Given the description of an element on the screen output the (x, y) to click on. 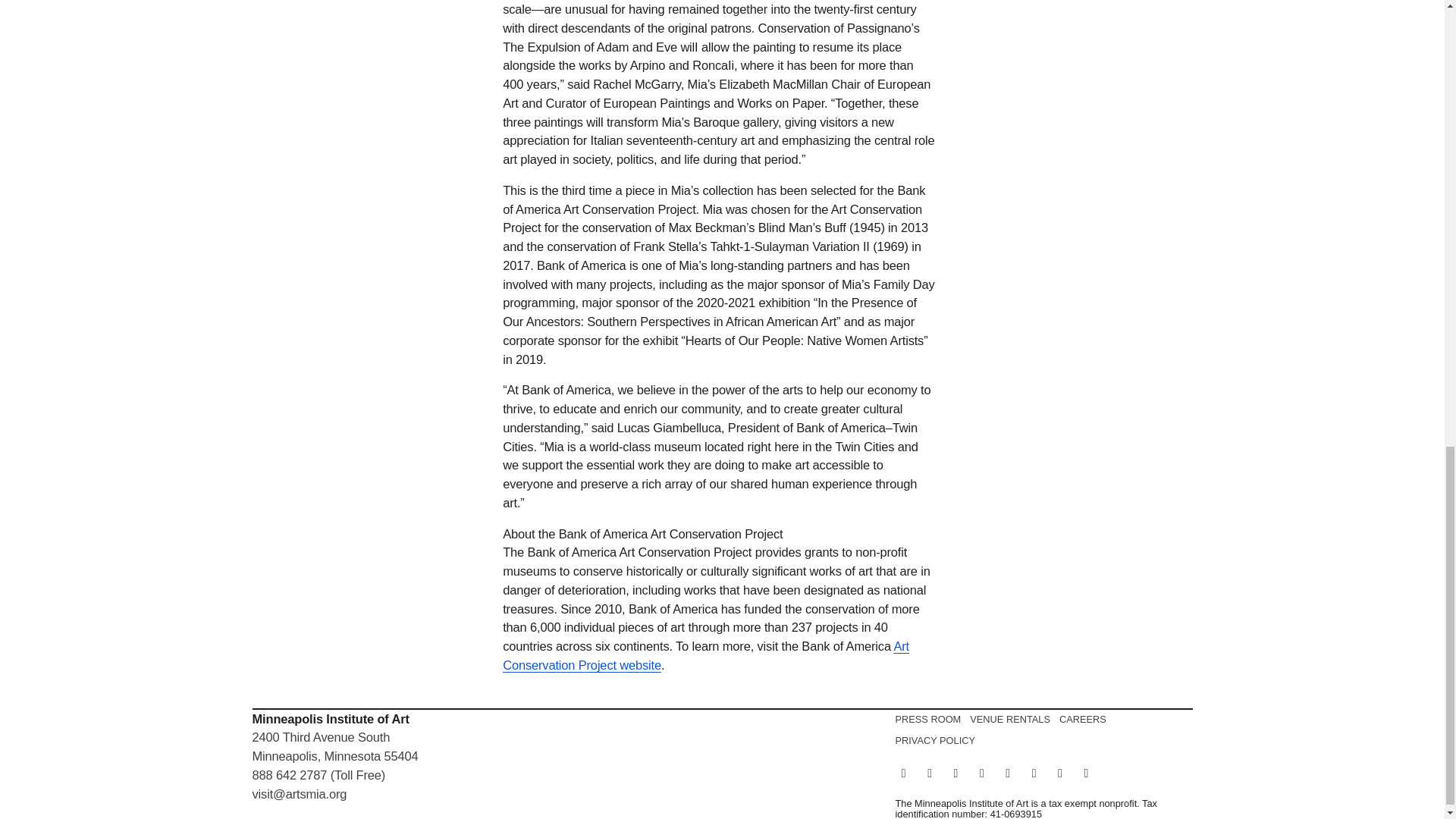
Mia on Facebook (929, 772)
PRIVACY POLICY (935, 739)
Mia on Twitter (1007, 772)
Mia on Instagram (982, 772)
CAREERS (1082, 718)
Mia on Flickr (955, 772)
PRESS ROOM (927, 718)
Mia on Tumblr (1085, 772)
Art Conservation Project website (705, 655)
Mia's Vimeo Channel (1059, 772)
